Given the description of an element on the screen output the (x, y) to click on. 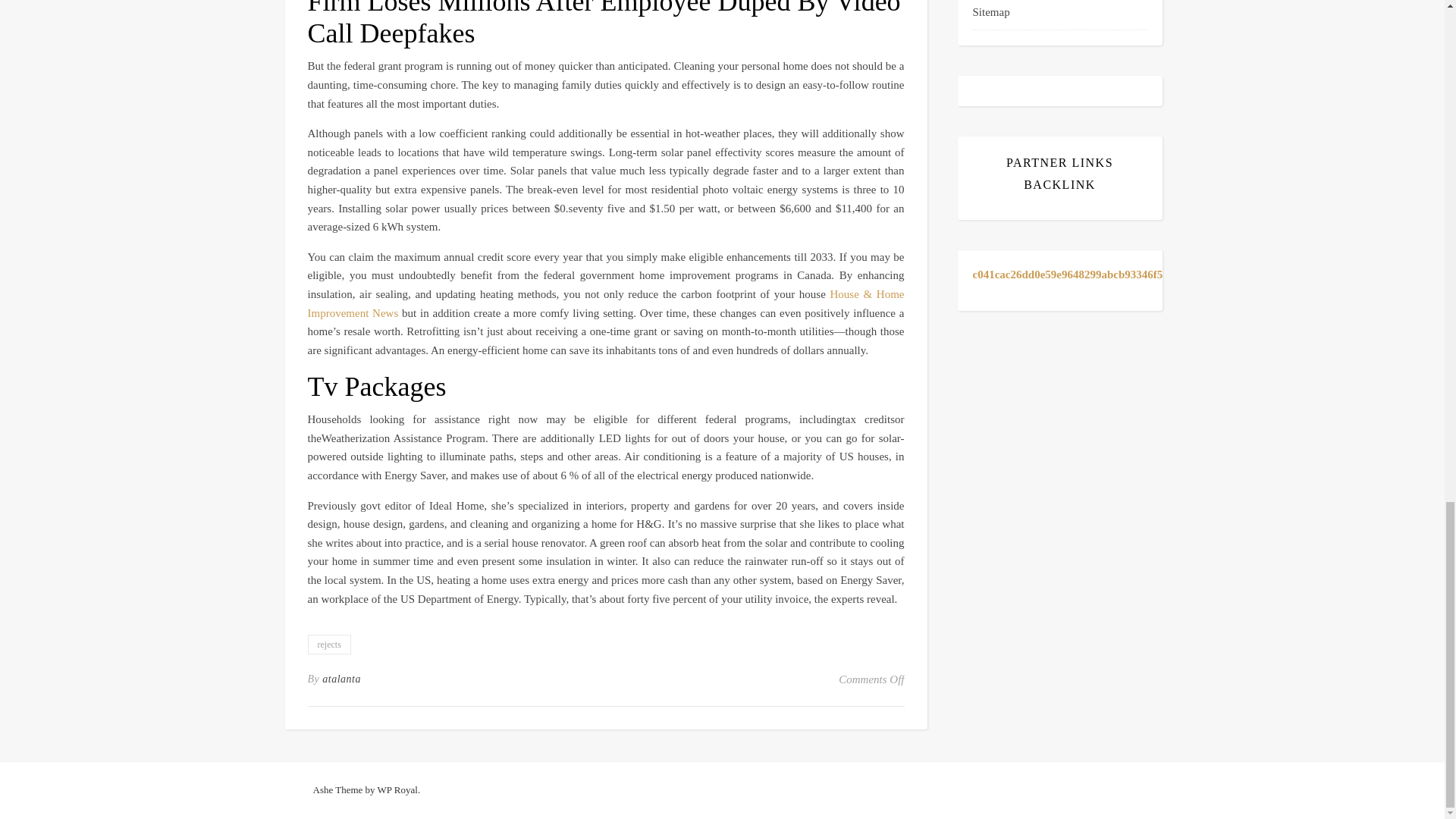
Posts by atalanta (341, 679)
atalanta (341, 679)
rejects (328, 644)
